Given the description of an element on the screen output the (x, y) to click on. 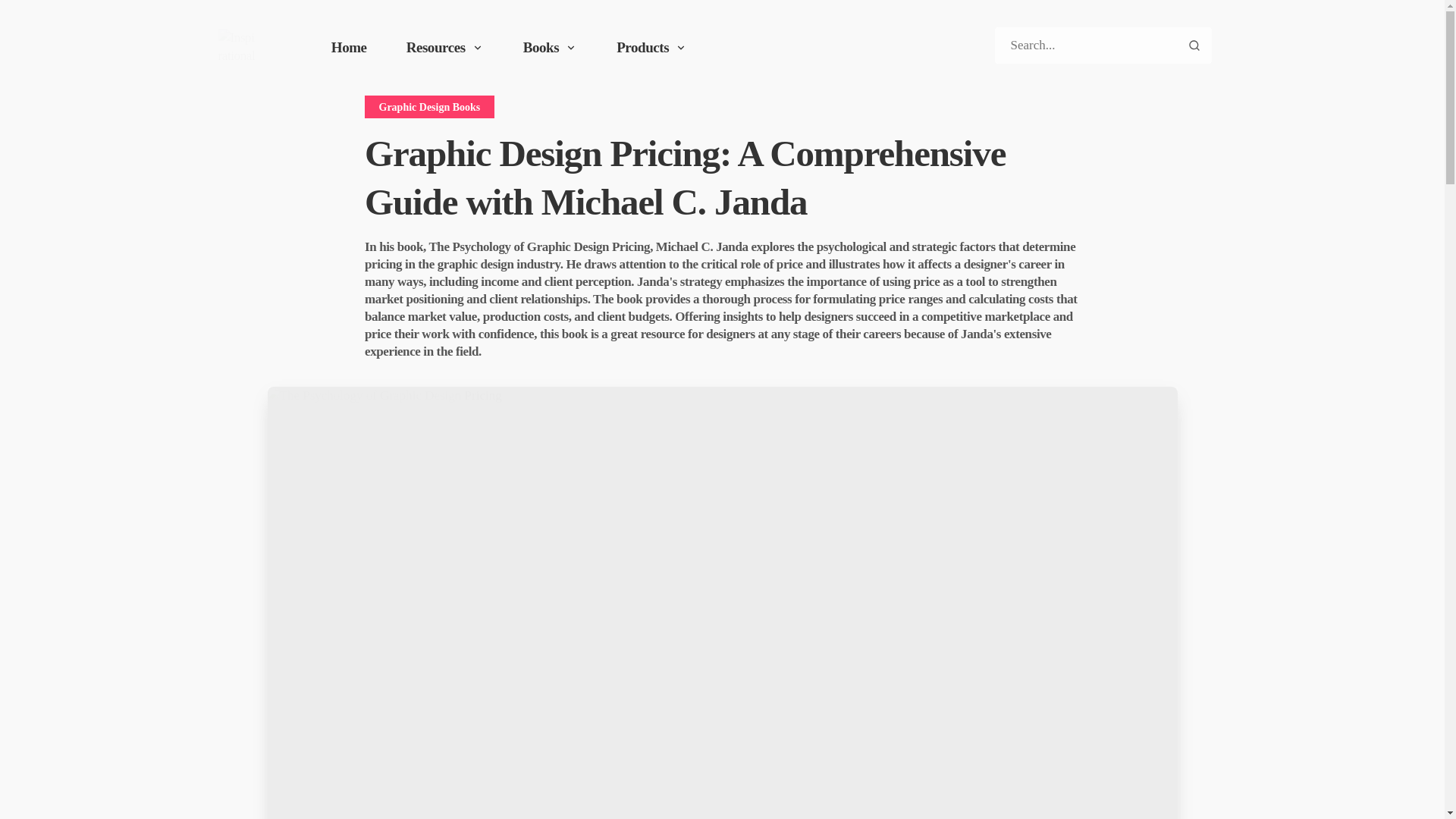
Home (348, 47)
Inspirational Design Resources (237, 47)
Resources (445, 47)
Products (651, 47)
Books (550, 47)
